Given the description of an element on the screen output the (x, y) to click on. 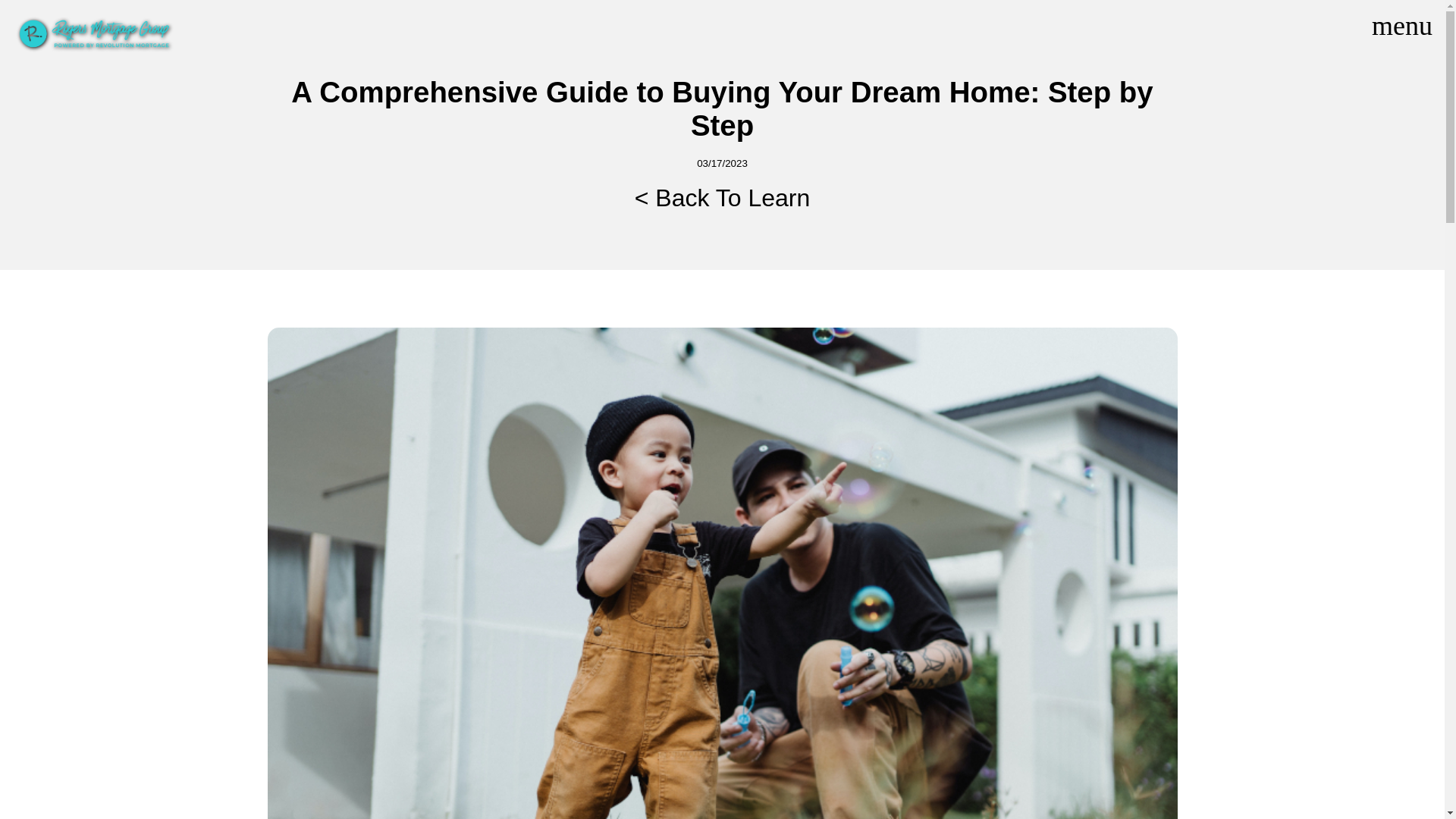
menu (1401, 25)
